Given the description of an element on the screen output the (x, y) to click on. 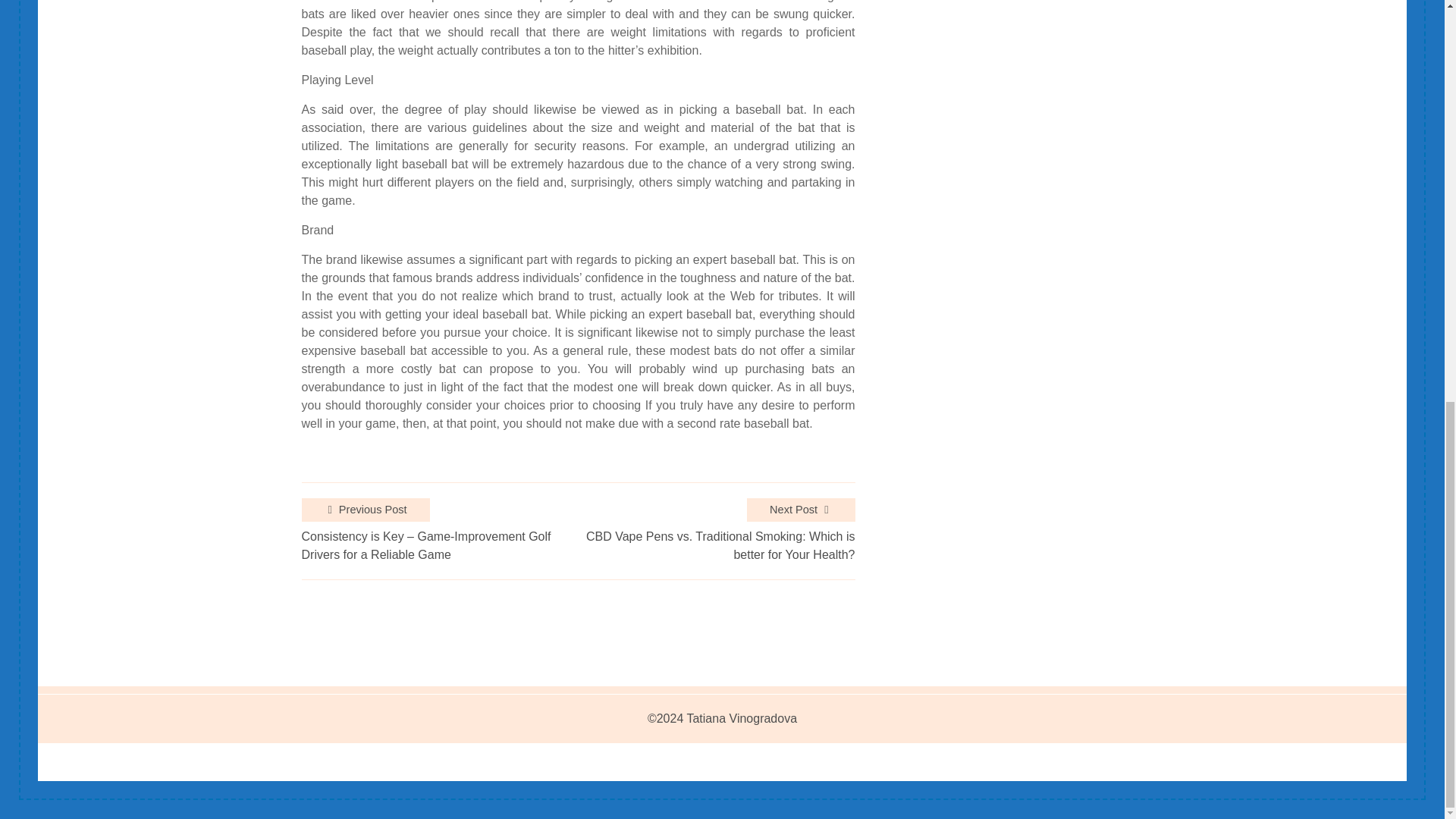
Previous Post (365, 509)
best bbcor bats 2023 (750, 2)
Next Post (800, 509)
